Given the description of an element on the screen output the (x, y) to click on. 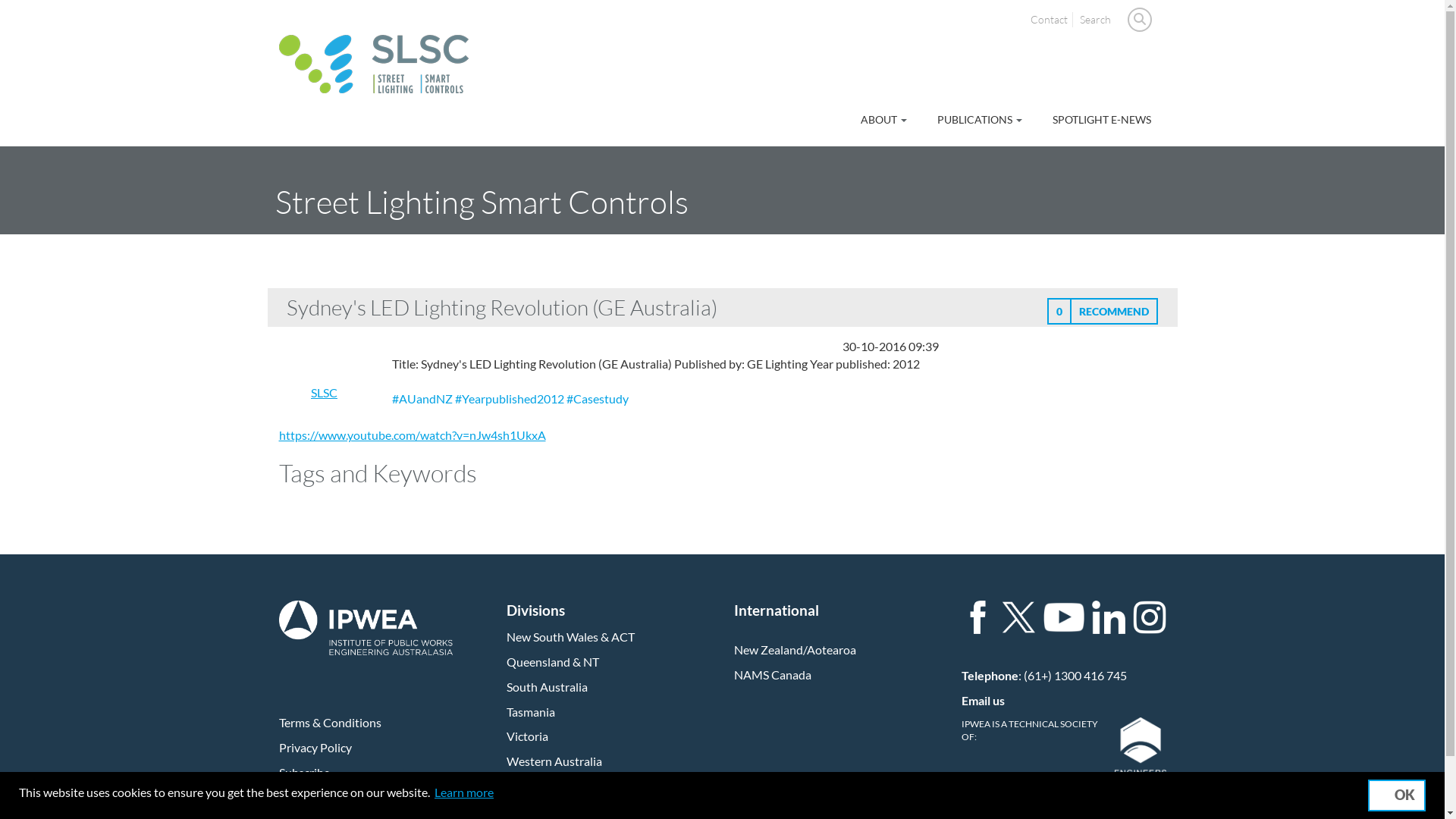
 OK Element type: text (1396, 795)
Learn more Element type: text (463, 791)
Search Element type: text (1095, 19)
New Zealand/Aotearoa Element type: text (795, 649)
SPOTLIGHT E-NEWS Element type: text (1100, 119)
ABOUT Element type: text (883, 119)
Privacy Policy Element type: text (315, 747)
0 Element type: text (1059, 311)
Divisions Element type: text (535, 612)
PUBLICATIONS Element type: text (978, 119)
Contact Element type: text (1051, 19)
RECOMMEND Element type: text (1113, 311)
Terms & Conditions Element type: text (330, 722)
https://www.youtube.com/watch?v=nJw4sh1UkxA Element type: text (412, 434)
SLSC Element type: text (323, 392)
#Yearpublished2012 Element type: text (509, 398)
Subscribe Element type: text (304, 772)
#Casestudy Element type: text (597, 398)
Tasmania Element type: text (530, 711)
South Australia Element type: text (546, 686)
New South Wales & ACT Element type: text (570, 636)
NAMS Canada Element type: text (772, 674)
Queensland & NT Element type: text (552, 661)
Victoria Element type: text (527, 735)
Email us Element type: text (982, 700)
Western Australia Element type: text (554, 760)
#AUandNZ Element type: text (422, 398)
